Given the description of an element on the screen output the (x, y) to click on. 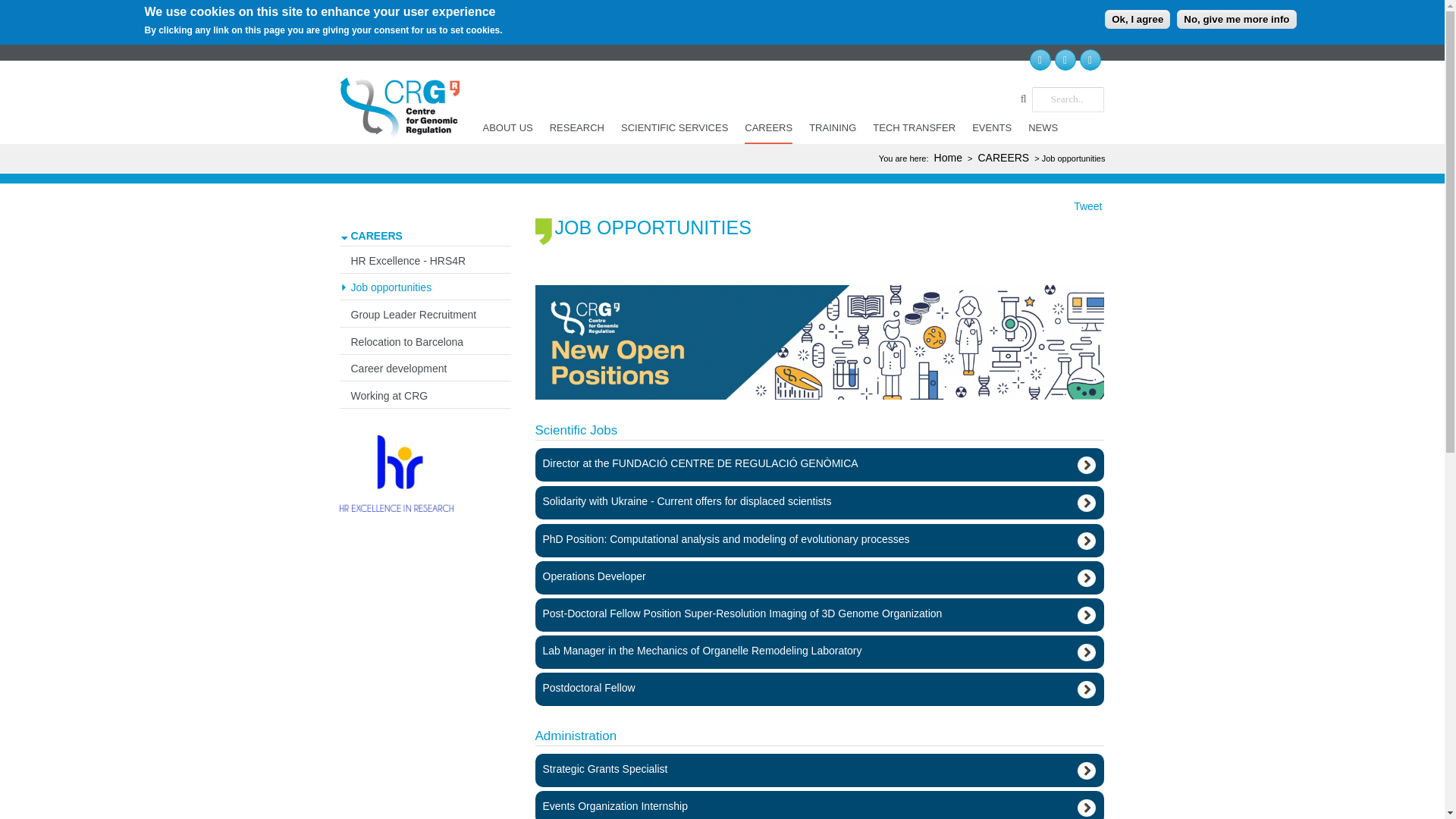
RESEARCH (576, 128)
TRAINING (832, 128)
Ok, I agree (1137, 18)
Search.. (1066, 99)
ABOUT US (507, 128)
No, give me more info (1235, 18)
CAREERS (768, 130)
SCIENTIFIC SERVICES (674, 128)
